Given the description of an element on the screen output the (x, y) to click on. 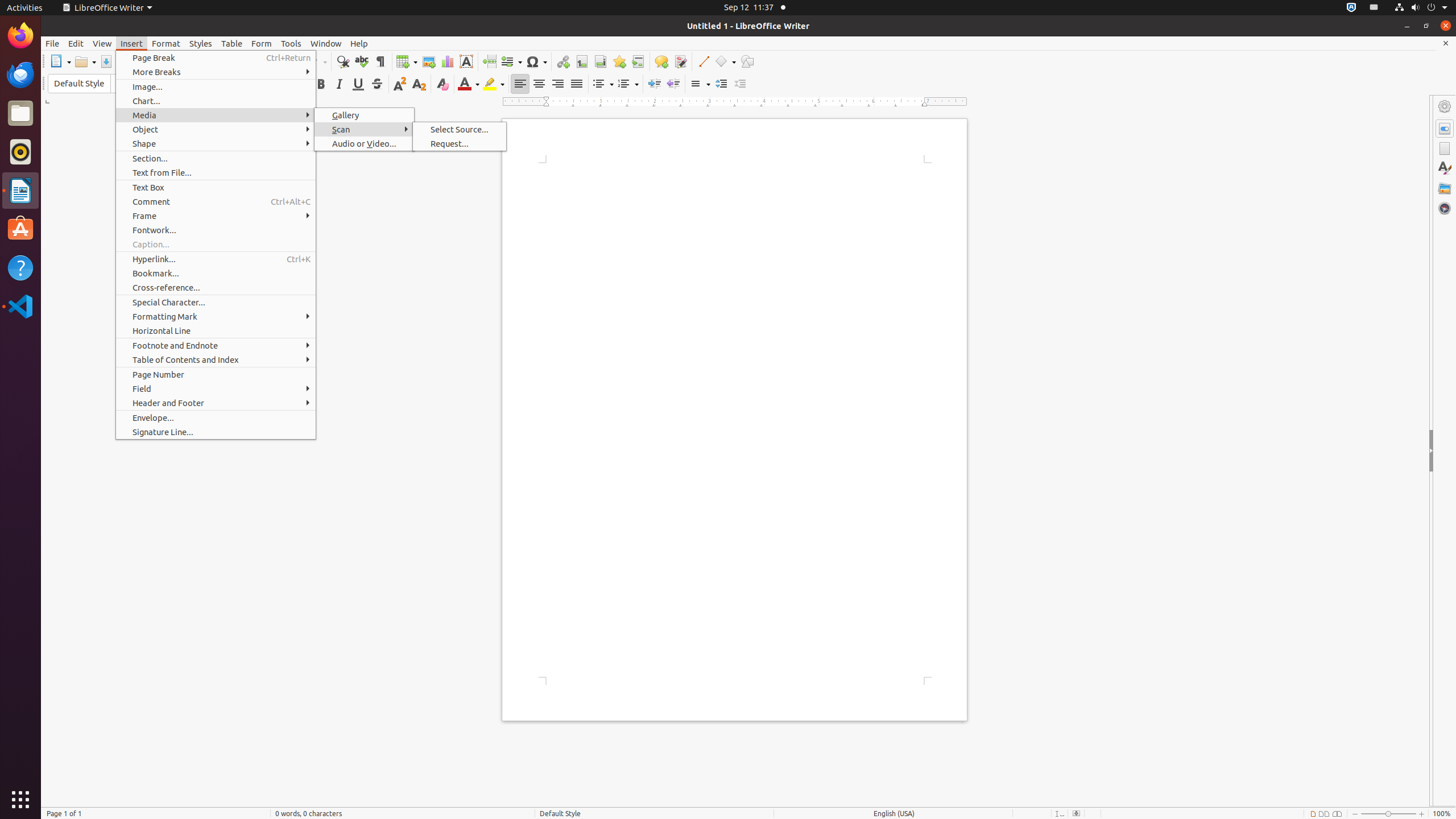
Bullets Element type: push-button (602, 83)
Underline Element type: push-button (357, 83)
Endnote Element type: push-button (599, 61)
Form Element type: menu (261, 43)
Table of Contents and Index Element type: menu (215, 359)
